Given the description of an element on the screen output the (x, y) to click on. 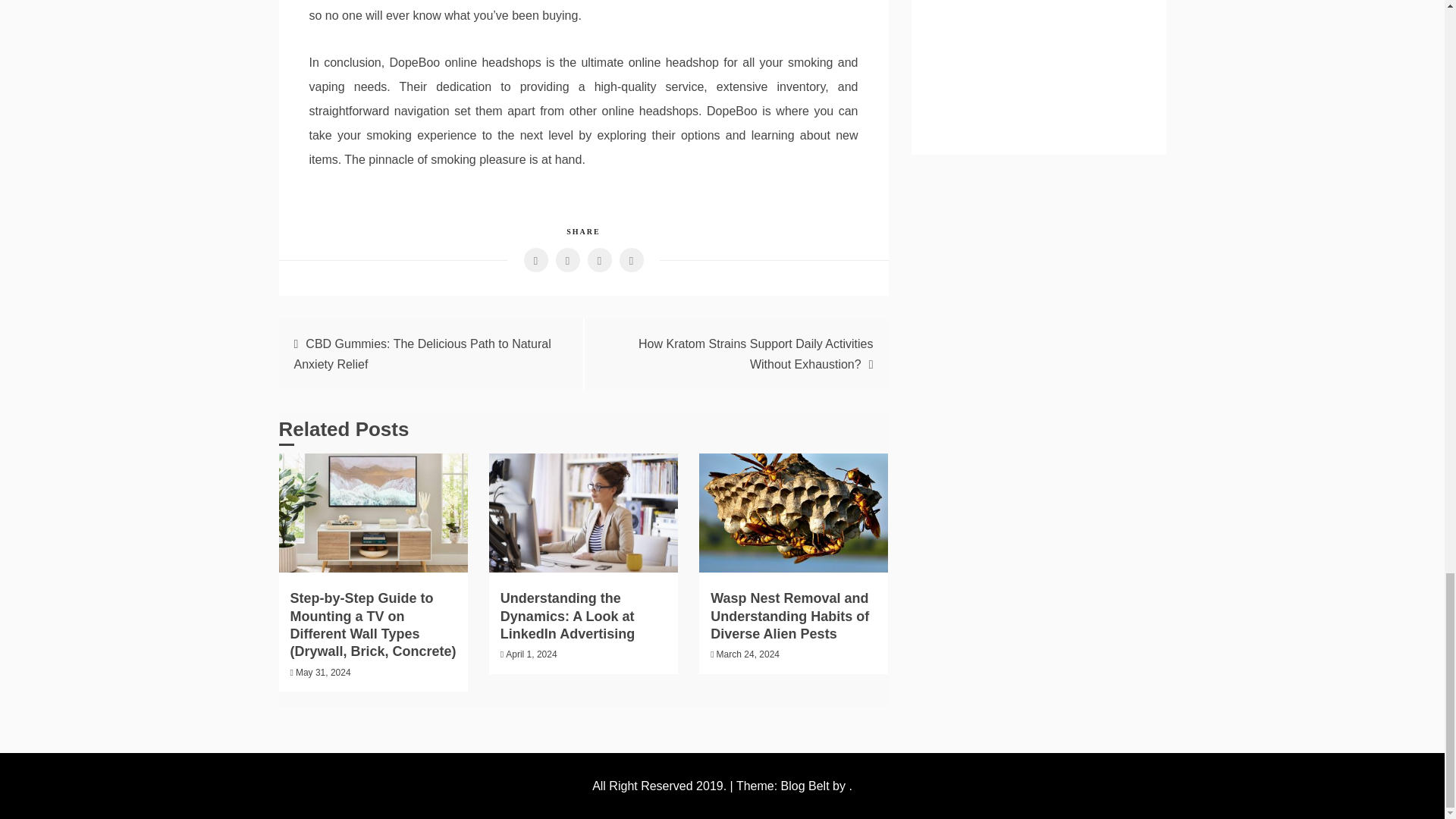
Understanding the Dynamics: A Look at LinkedIn Advertising (567, 615)
May 31, 2024 (322, 672)
March 24, 2024 (747, 654)
CBD Gummies: The Delicious Path to Natural Anxiety Relief (422, 354)
April 1, 2024 (530, 654)
